Given the description of an element on the screen output the (x, y) to click on. 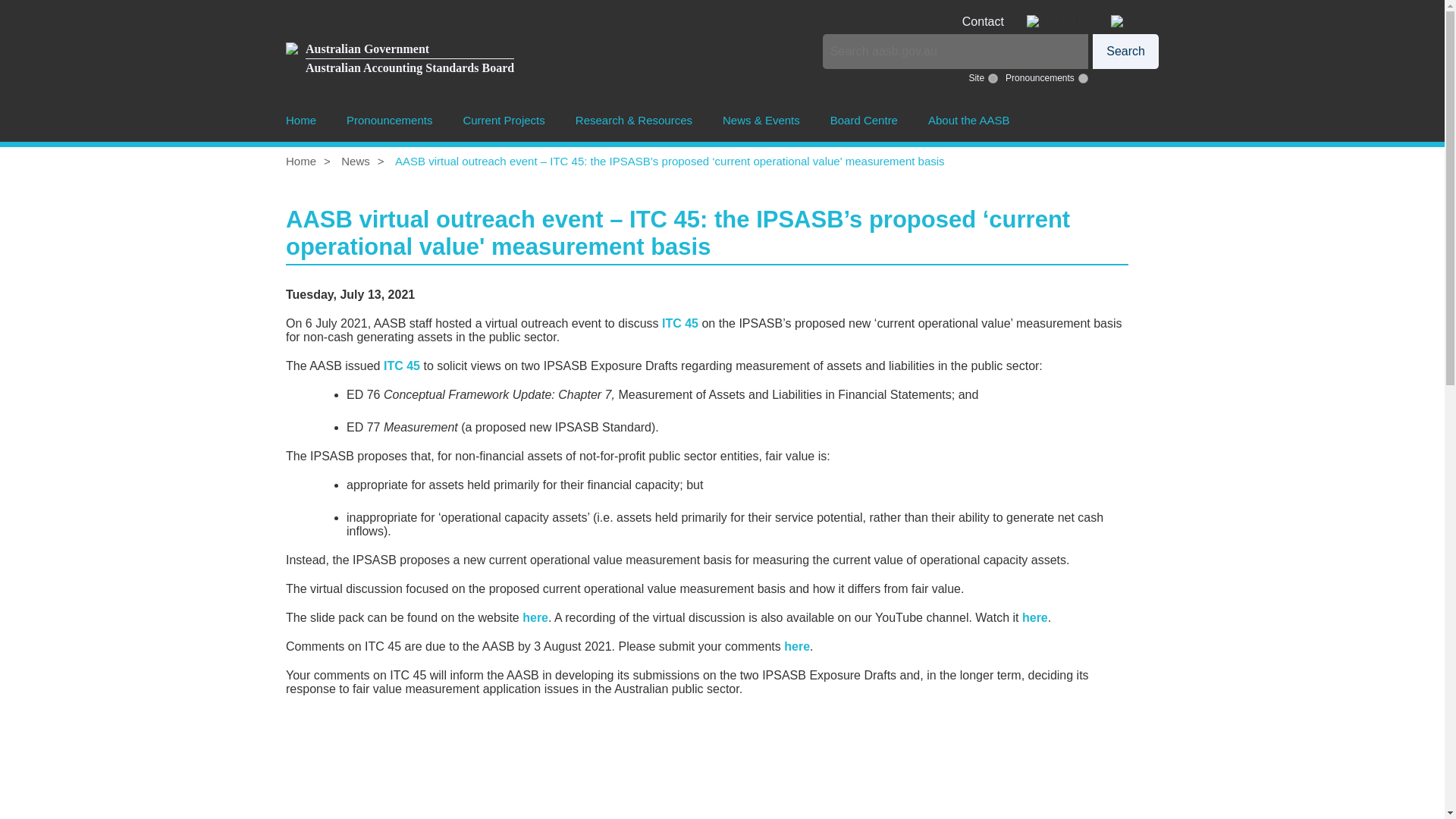
Home (300, 119)
Contact (994, 21)
Search (1125, 51)
Current Projects (503, 119)
ITC45 Virtual discussion slides (535, 617)
Site (992, 77)
Pronouncements (399, 58)
Search (1082, 77)
Pronouncements (1125, 51)
